Given the description of an element on the screen output the (x, y) to click on. 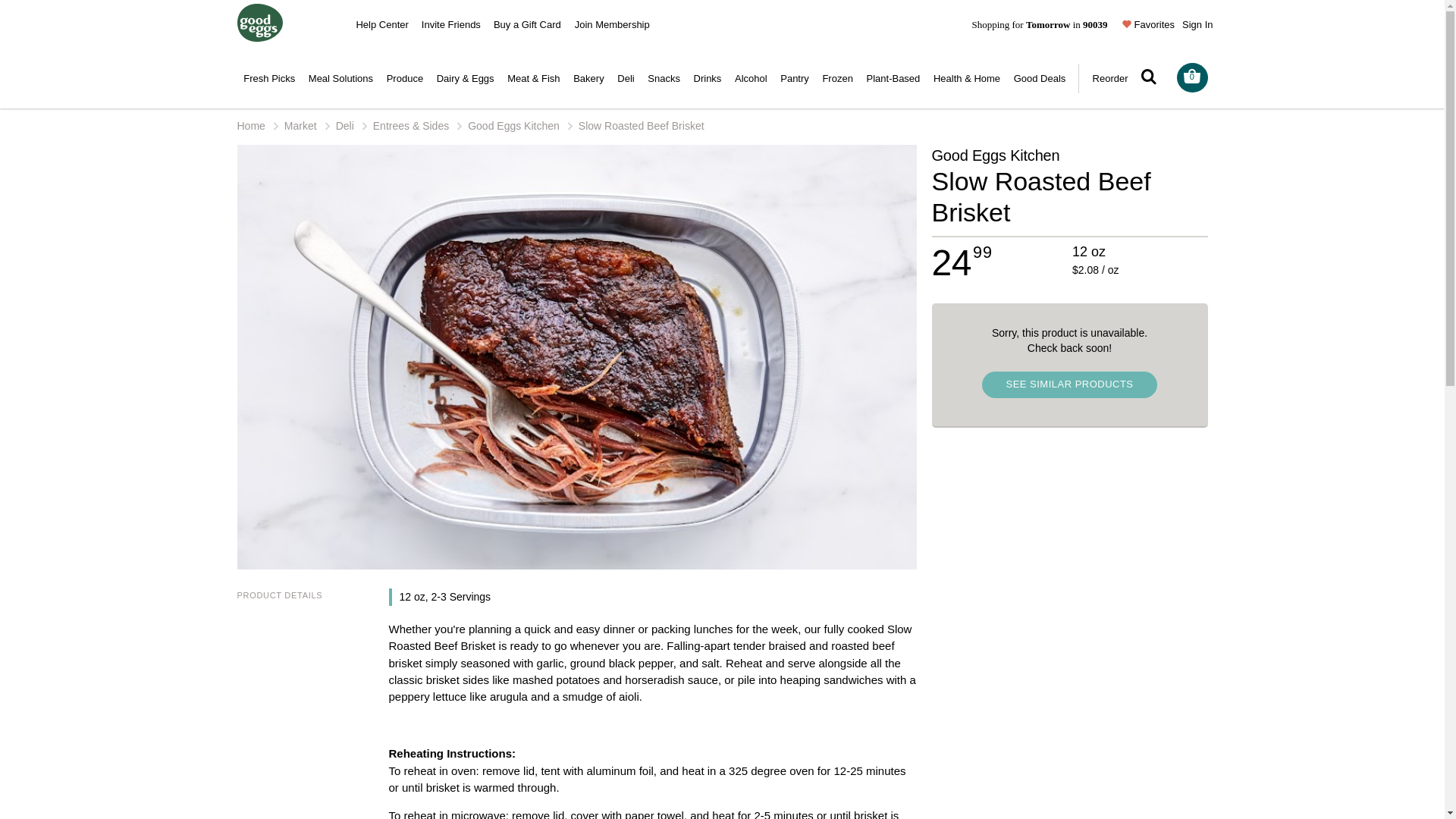
Fresh Picks (268, 78)
Join Membership (614, 22)
Buy a Gift Card (530, 22)
Help Center (384, 22)
Favorites (1147, 23)
Produce (404, 78)
Invite Friends (454, 22)
Meal Solutions (340, 78)
Sign In (1200, 22)
